Given the description of an element on the screen output the (x, y) to click on. 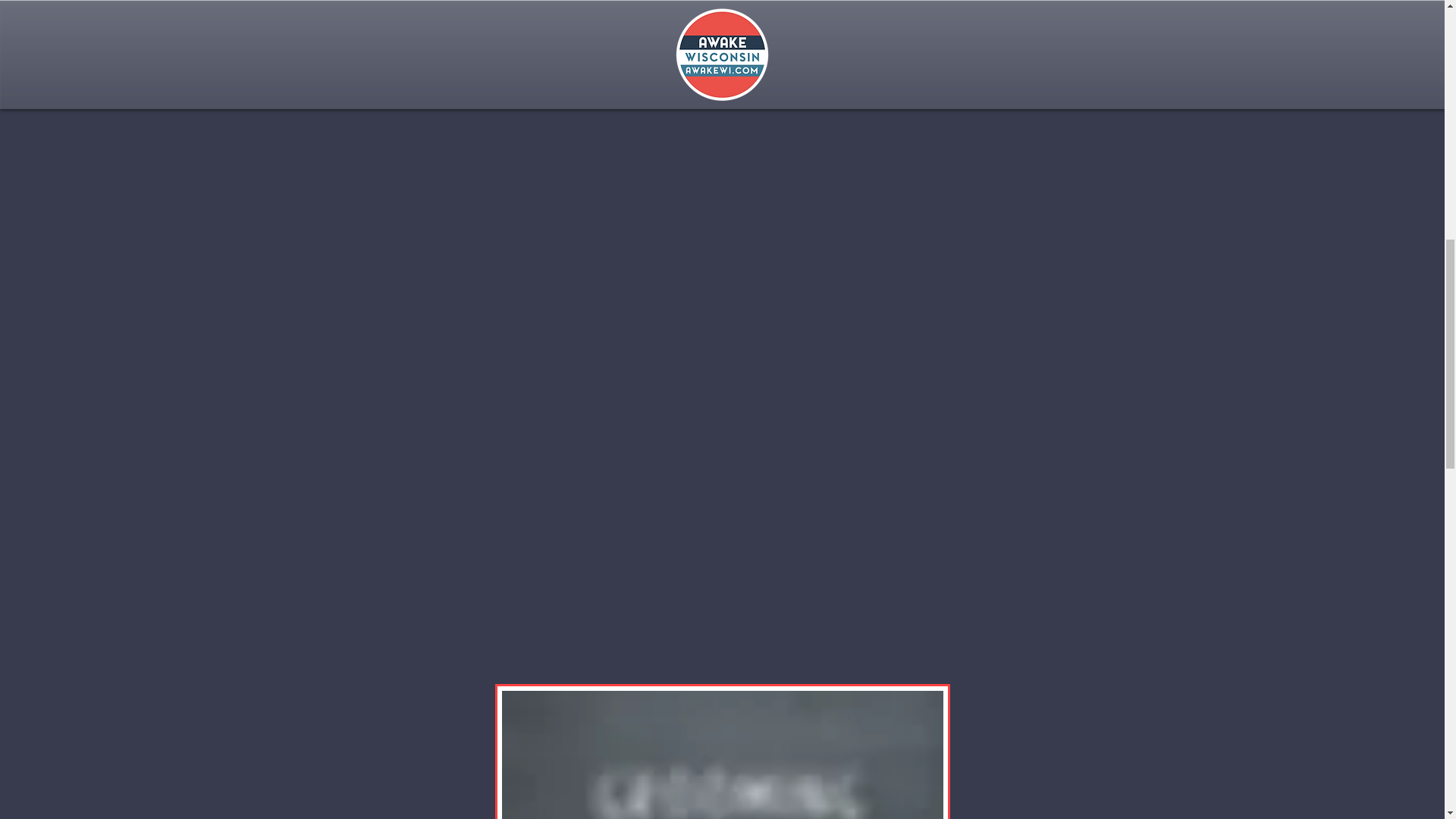
OPT OUT FORM TODAY (906, 8)
